Given the description of an element on the screen output the (x, y) to click on. 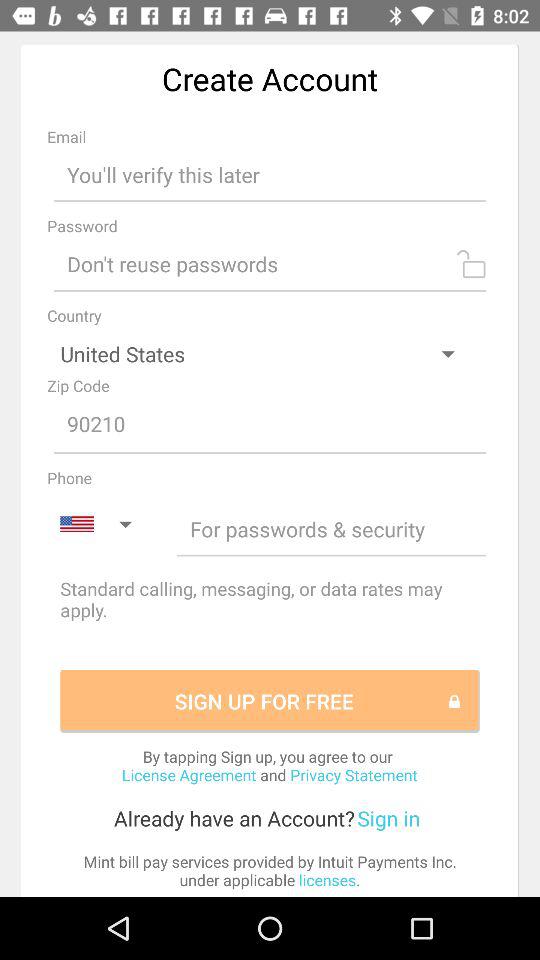
jump to the by tapping sign (269, 765)
